Given the description of an element on the screen output the (x, y) to click on. 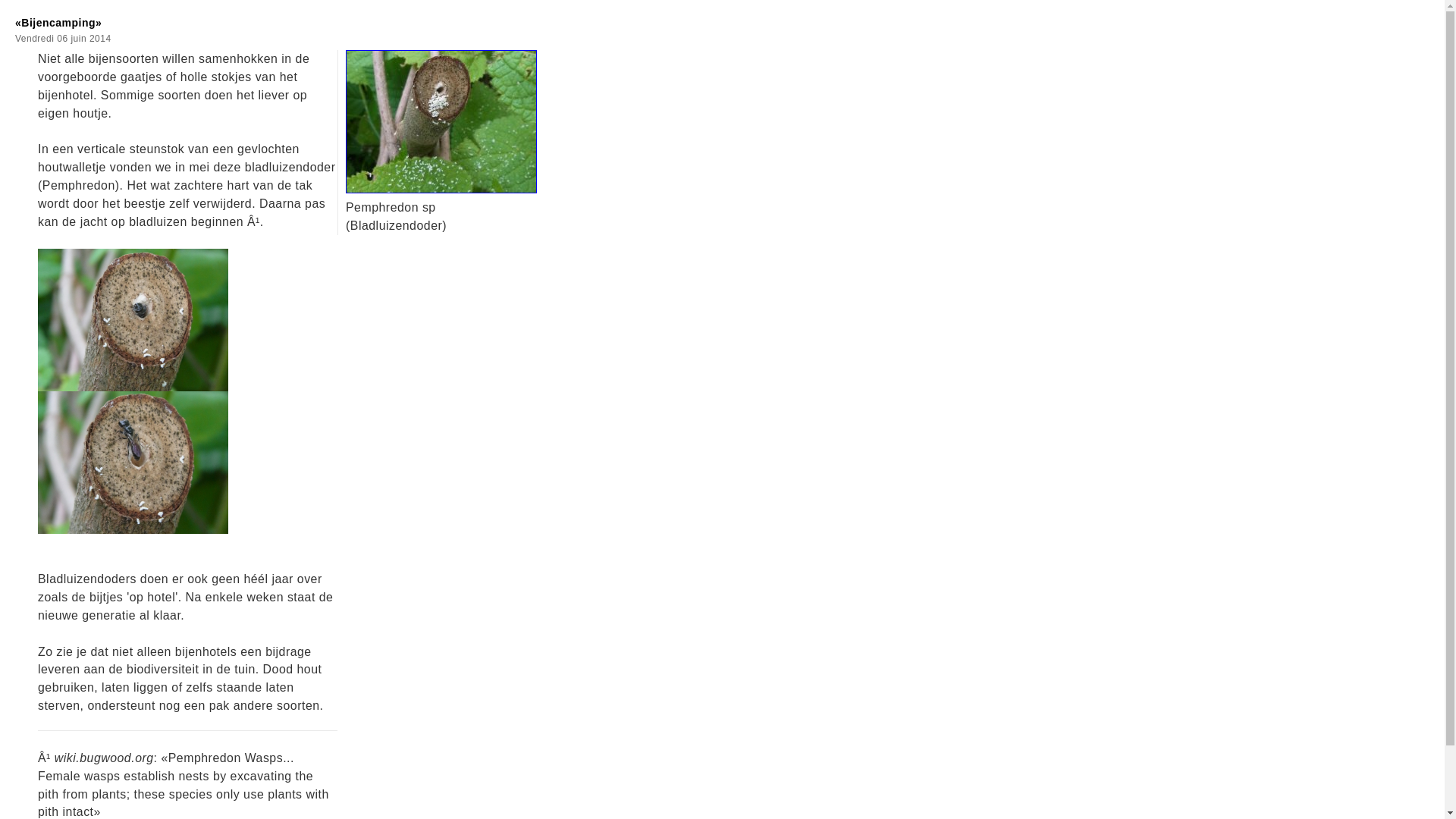
'ZOOM Element type: hover (132, 462)
'ZOOM Element type: hover (132, 319)
wiki.bugwood.org Element type: text (103, 757)
Pemphredon sp (Bladluizendoder) Element type: hover (440, 188)
